Given the description of an element on the screen output the (x, y) to click on. 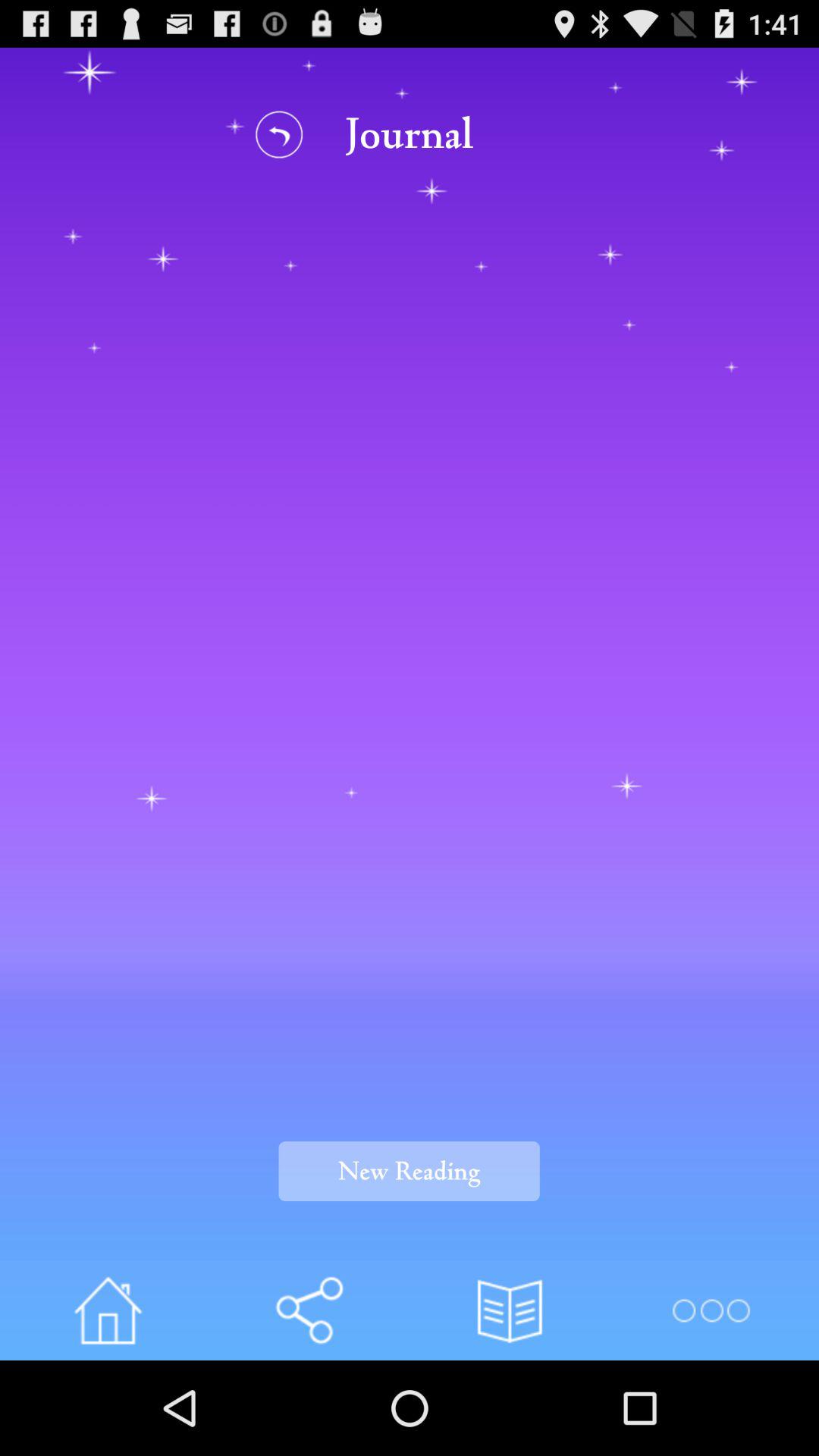
application option (710, 1310)
